Given the description of an element on the screen output the (x, y) to click on. 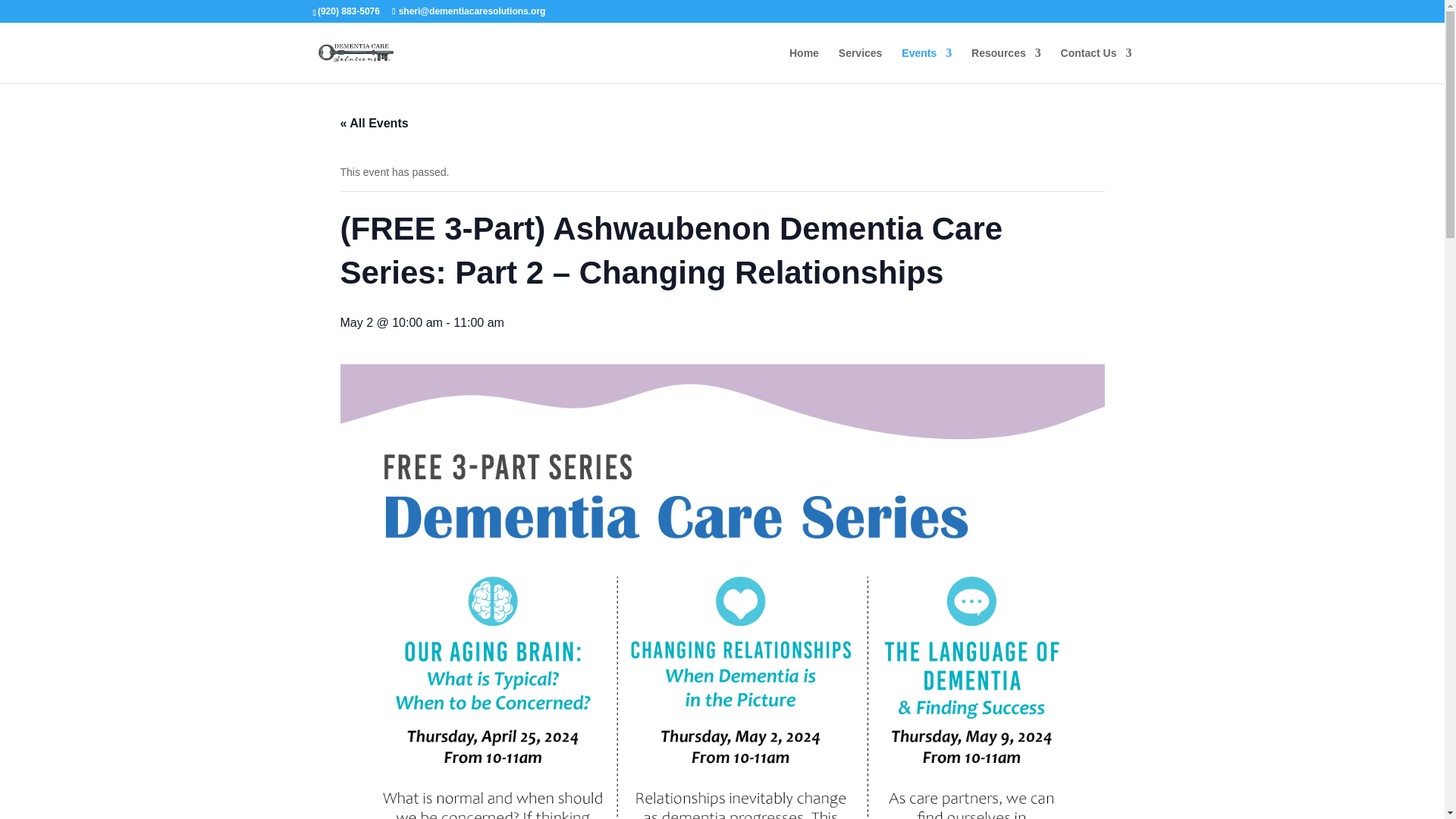
Contact Us (1096, 65)
Events (926, 65)
Resources (1006, 65)
Services (860, 65)
